Given the description of an element on the screen output the (x, y) to click on. 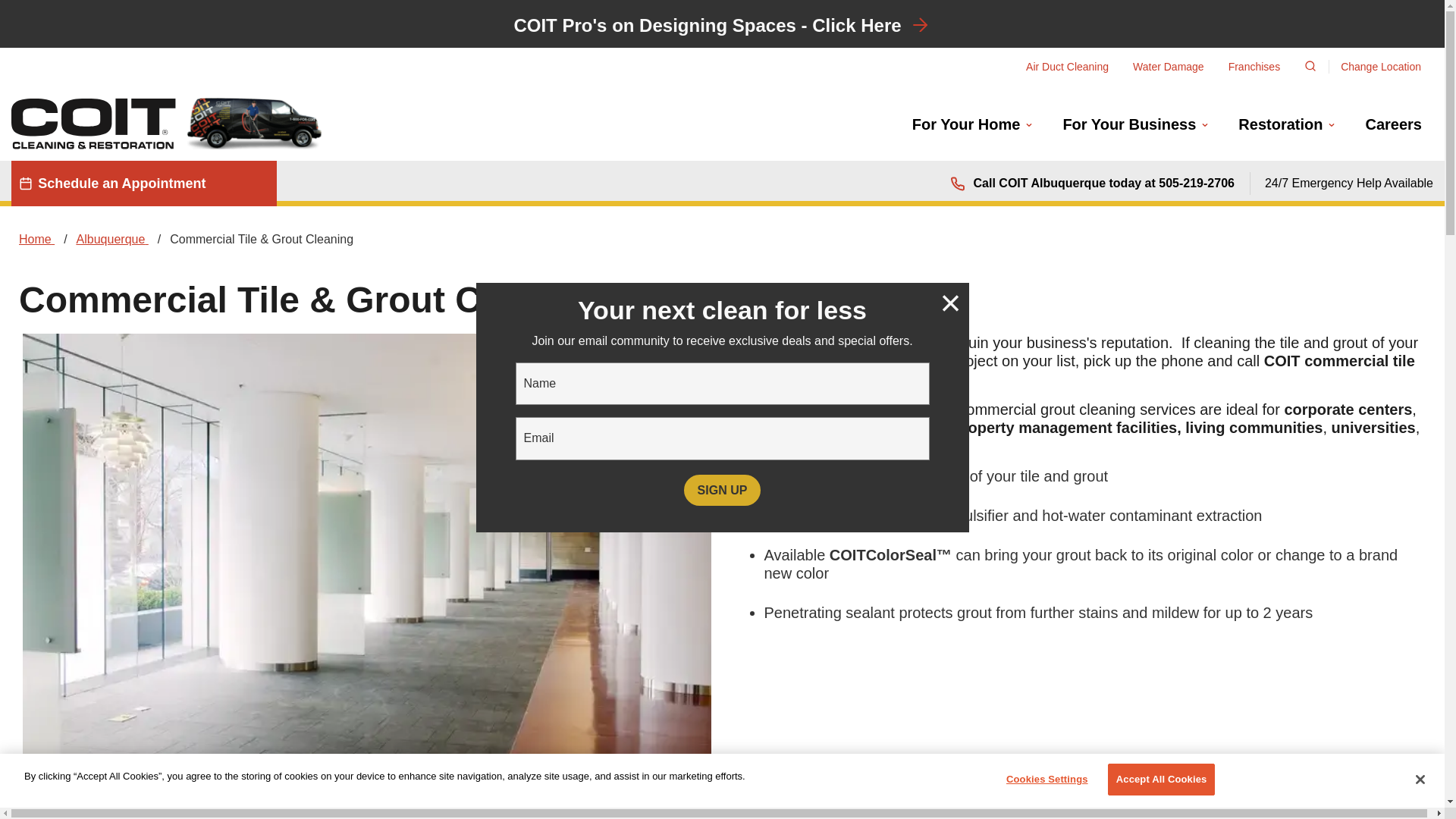
Restoration (1287, 124)
Air Duct Cleaning (1067, 66)
COIT Pro's on Designing Spaces - Click Here (707, 25)
For Your Business (1135, 124)
Change Location (1380, 66)
Sign Up (721, 490)
Home (166, 122)
Water Damage (1168, 66)
Franchises (1253, 66)
For Your Home (972, 124)
